Given the description of an element on the screen output the (x, y) to click on. 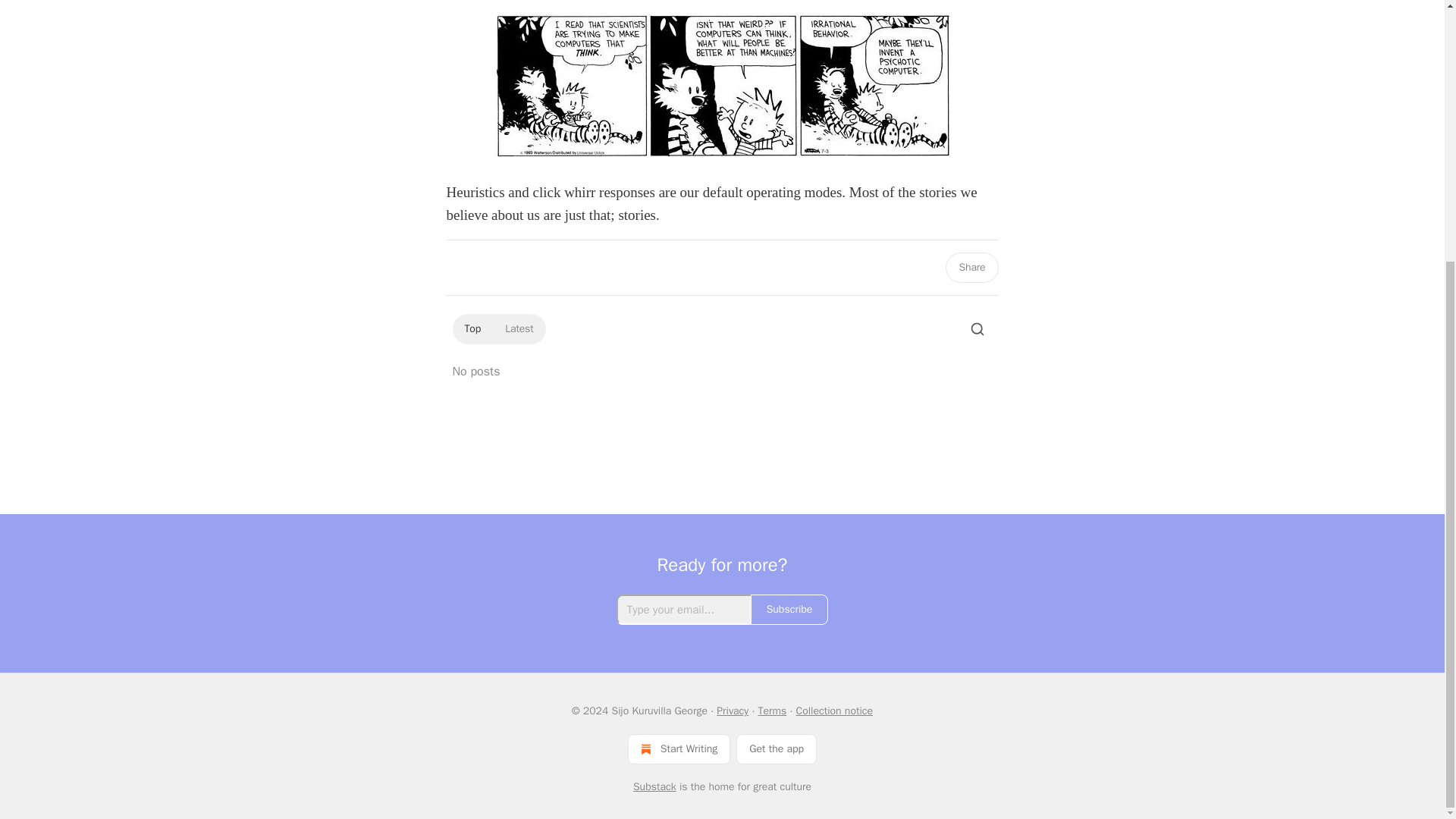
Top (471, 328)
Subscribe (789, 609)
Start Writing (678, 748)
Substack (655, 786)
Latest (518, 328)
Share (970, 267)
Privacy (732, 710)
Get the app (776, 748)
Collection notice (834, 710)
Terms (771, 710)
